Given the description of an element on the screen output the (x, y) to click on. 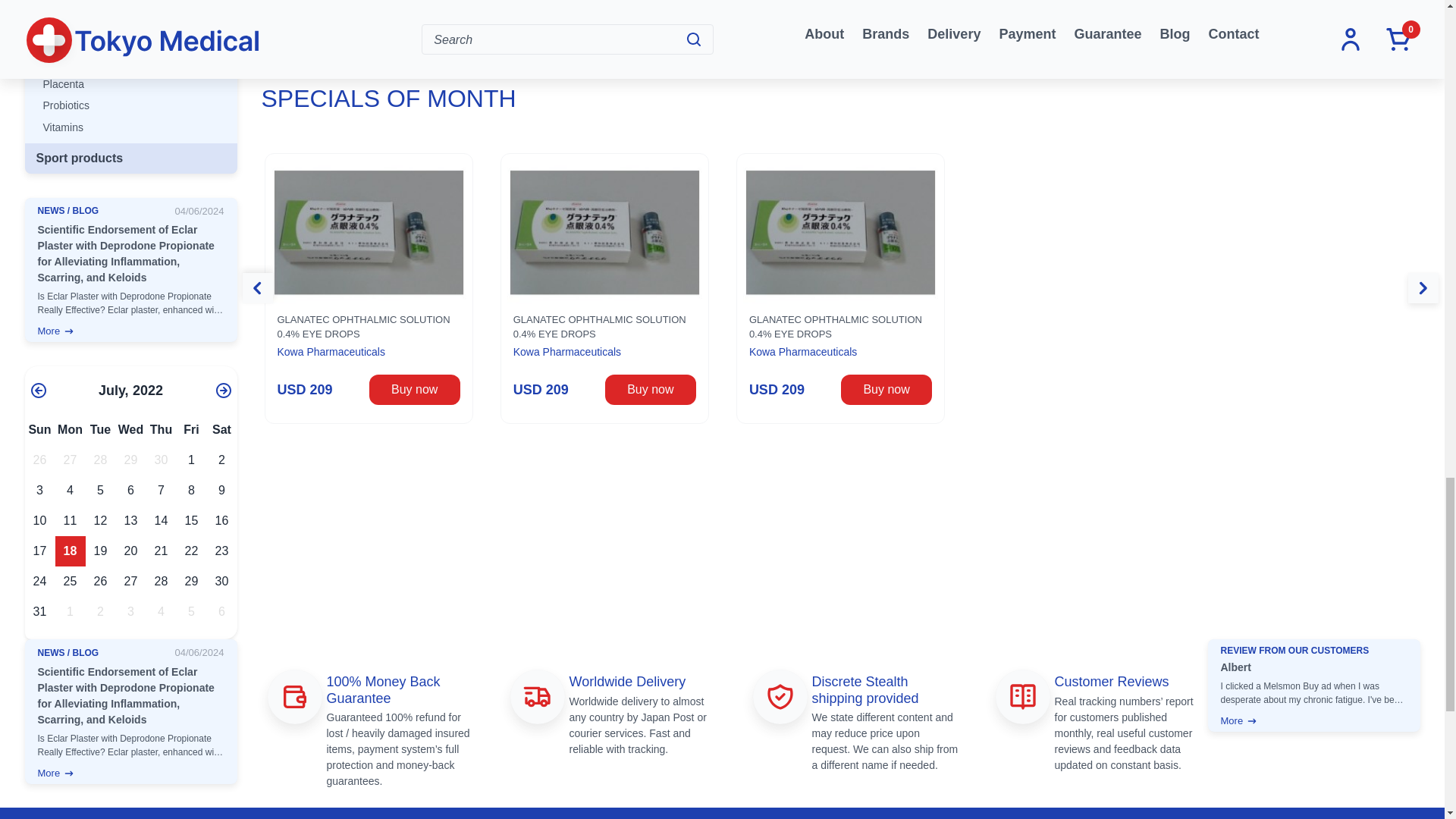
Customer Reviews (1021, 696)
Worldwide Delivery (536, 696)
Discrete Stealth shipping provided (779, 696)
